Given the description of an element on the screen output the (x, y) to click on. 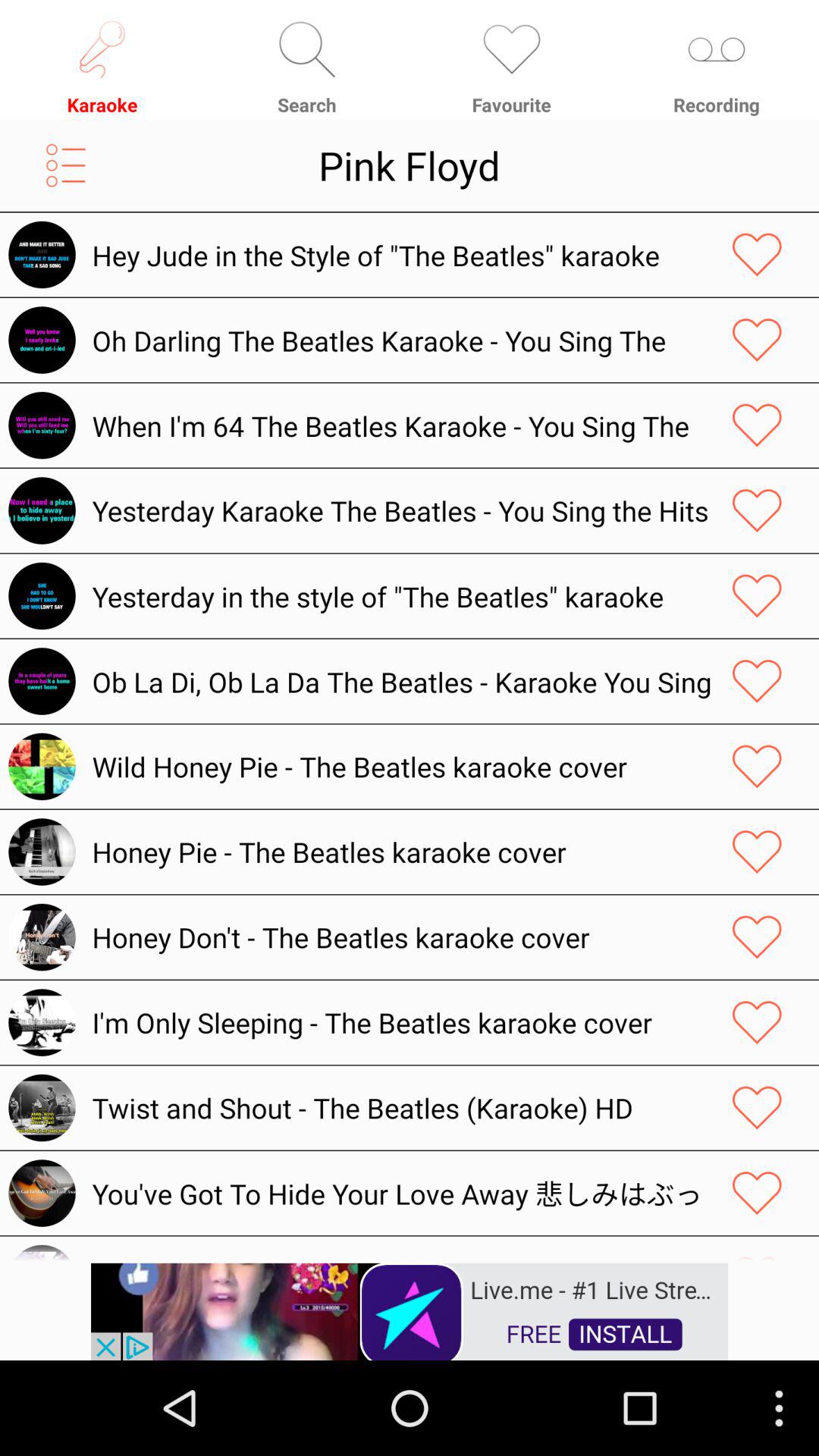
favorite button (756, 339)
